Given the description of an element on the screen output the (x, y) to click on. 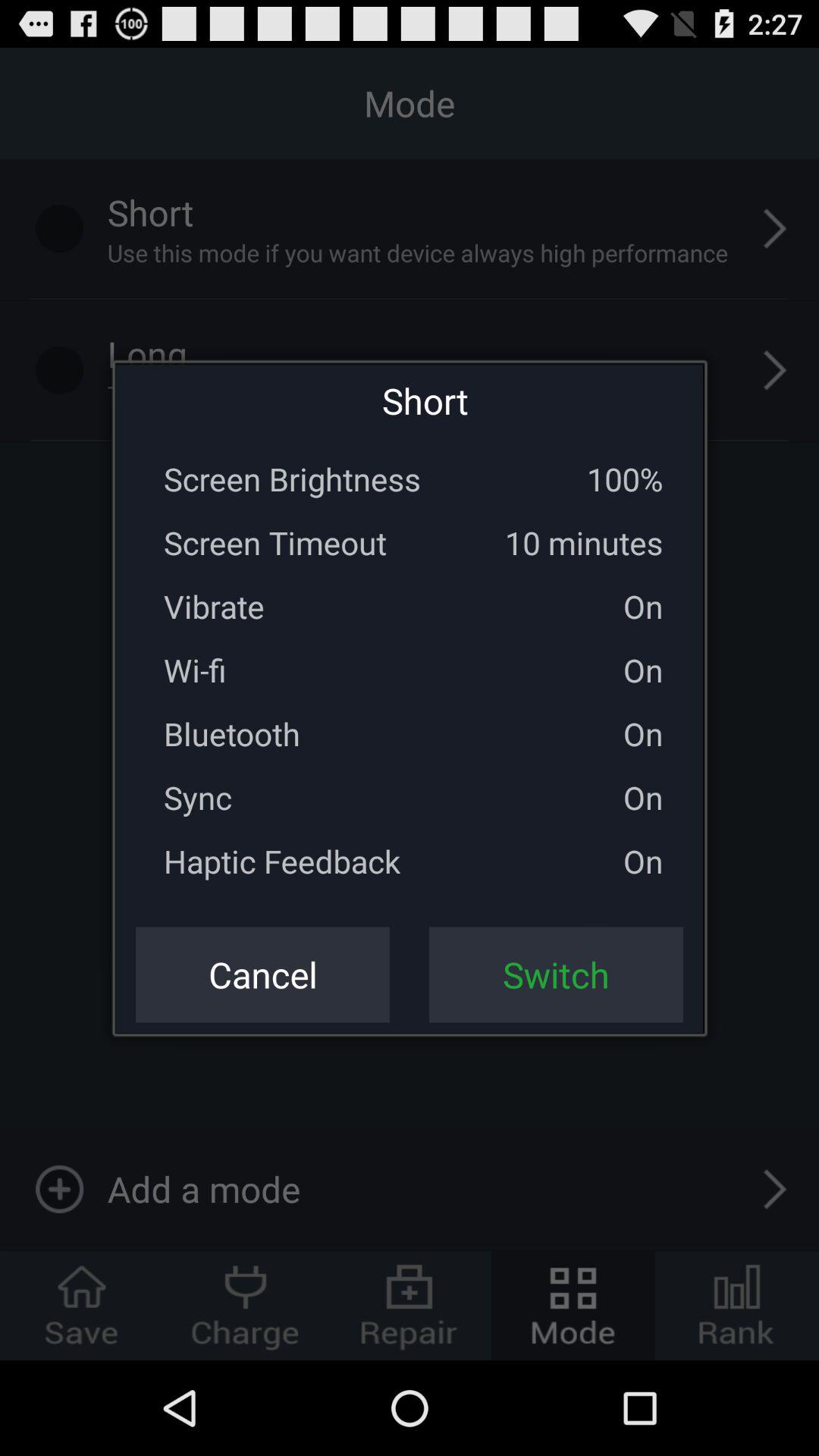
press icon to the right of cancel (556, 974)
